Given the description of an element on the screen output the (x, y) to click on. 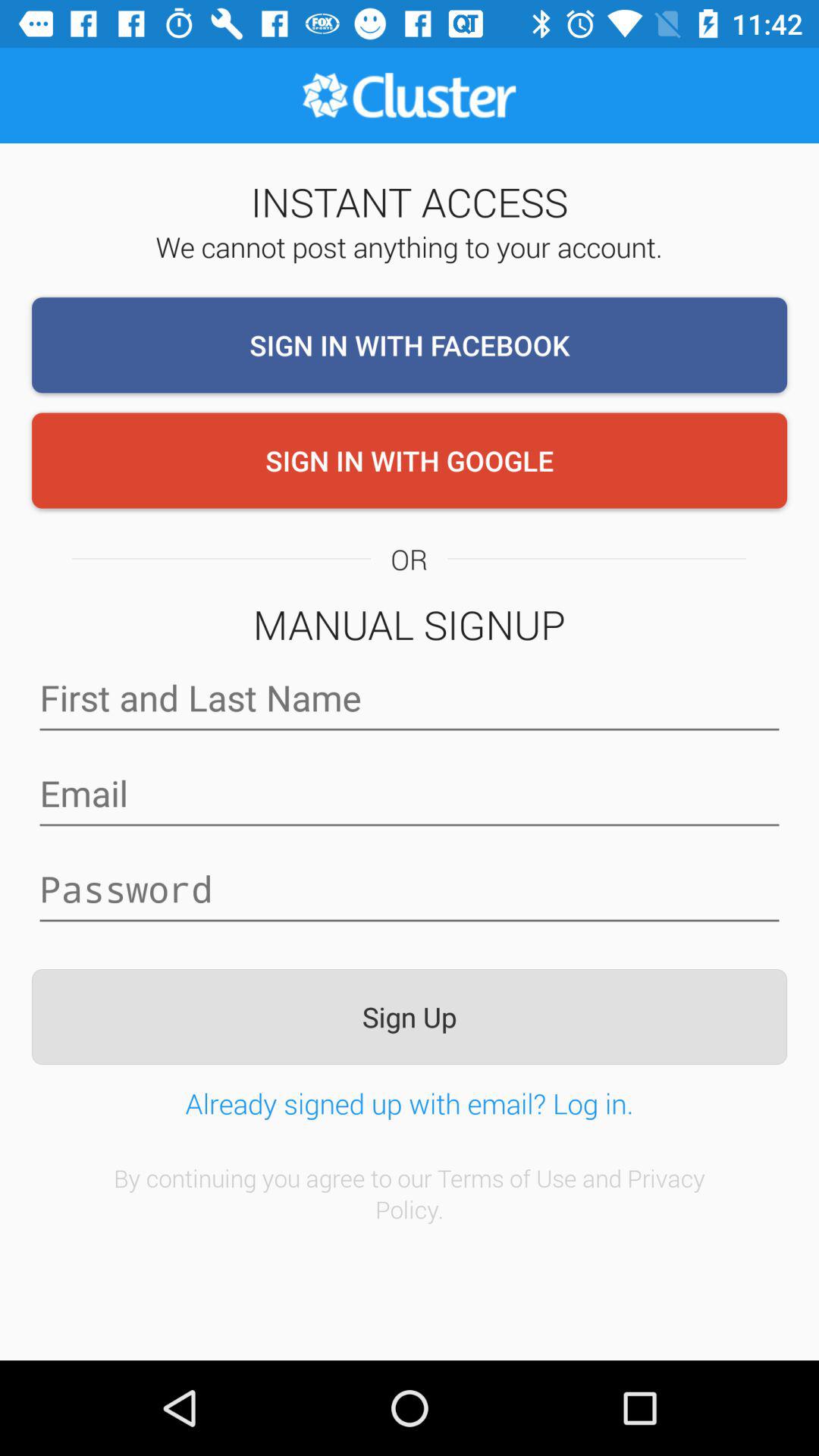
enter email address (409, 793)
